Given the description of an element on the screen output the (x, y) to click on. 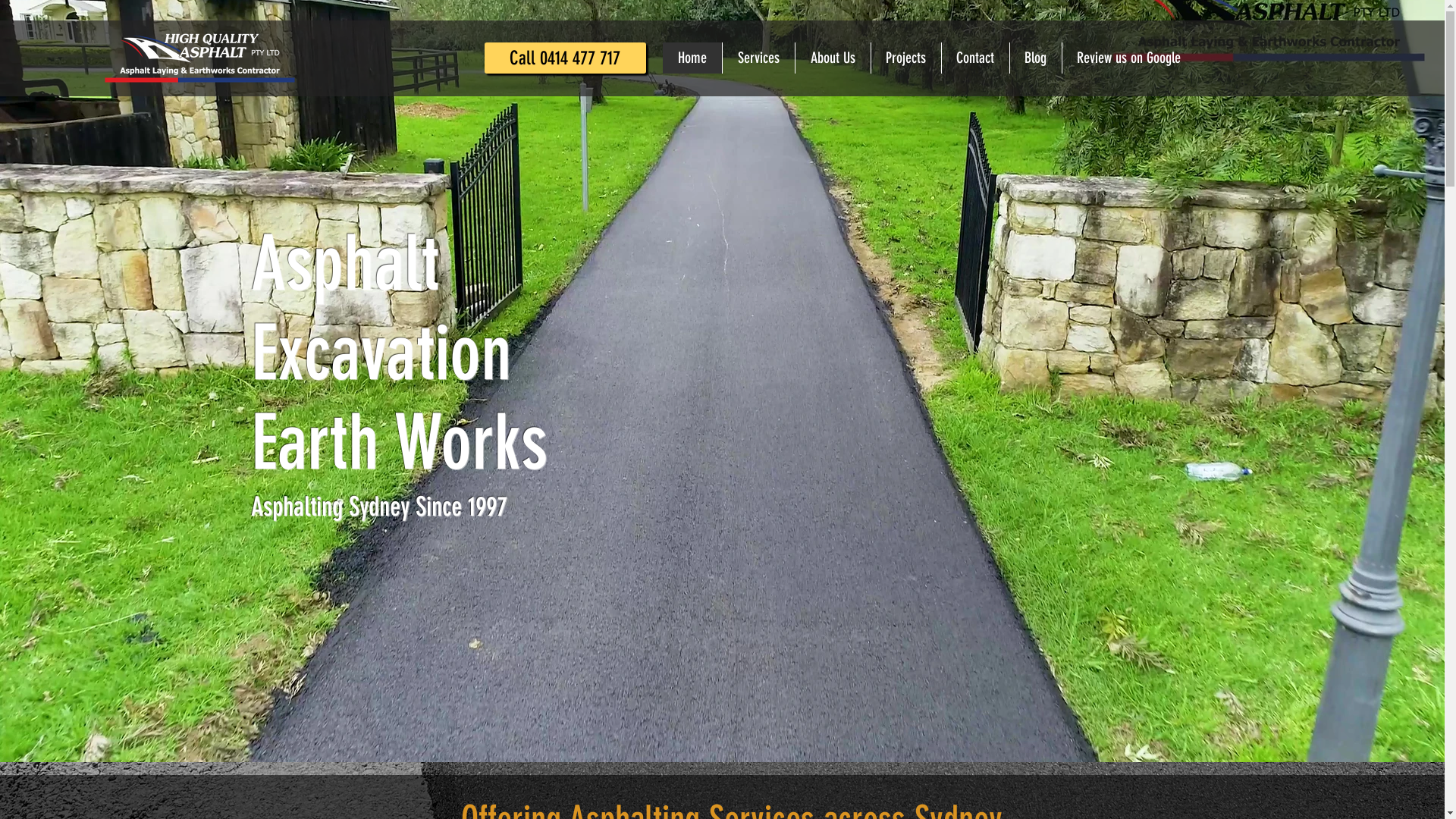
Home Element type: text (691, 57)
Review us on Google Element type: text (1128, 57)
Call 0414 477 717 Element type: text (565, 57)
Contact Element type: text (975, 57)
About Us Element type: text (832, 57)
Blog Element type: text (1035, 57)
Projects Element type: text (905, 57)
High Quality Asphalt Logo Element type: hover (199, 57)
